Given the description of an element on the screen output the (x, y) to click on. 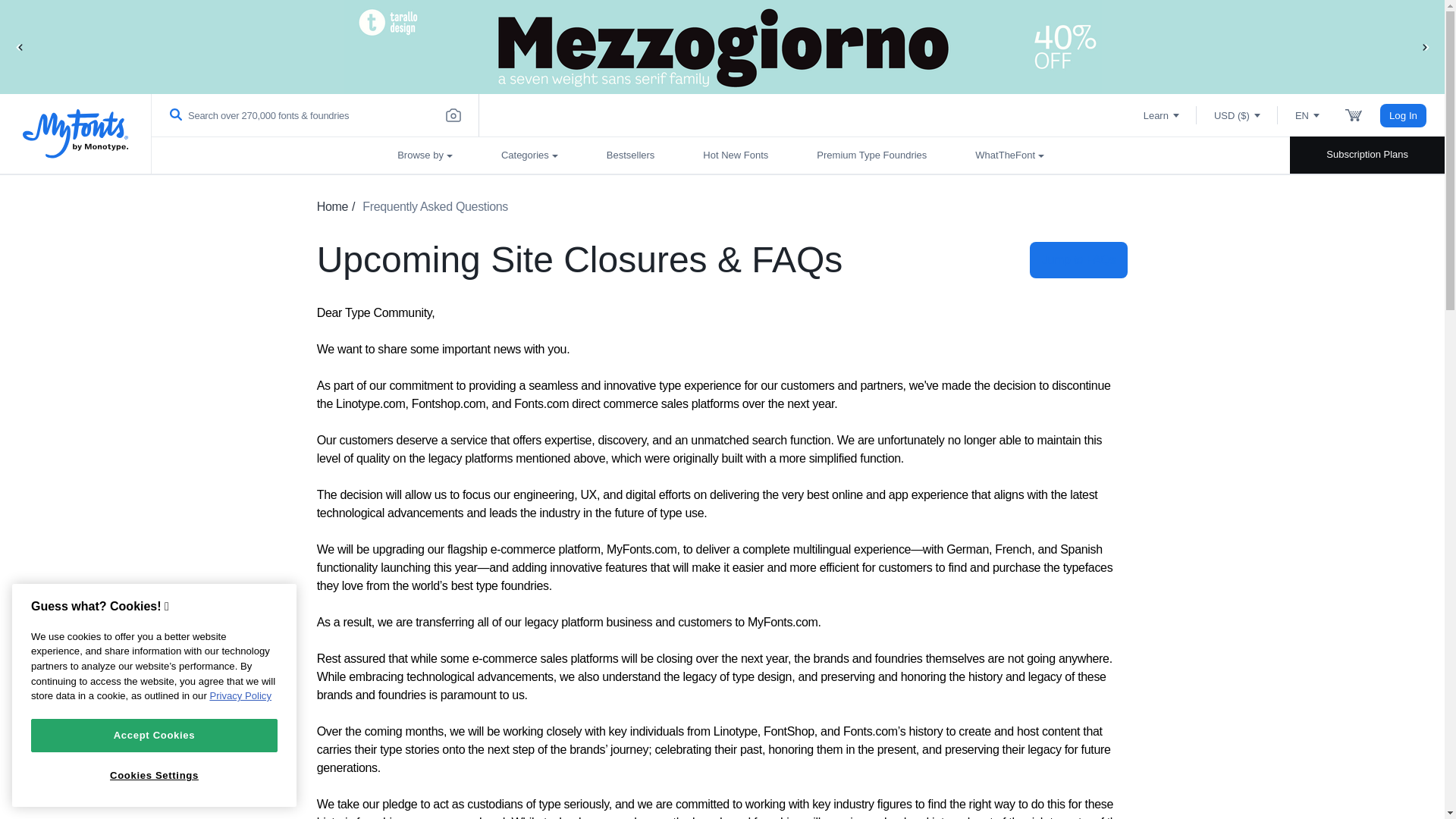
Skip to content (72, 27)
Log In (1403, 114)
MyFonts (75, 133)
